Given the description of an element on the screen output the (x, y) to click on. 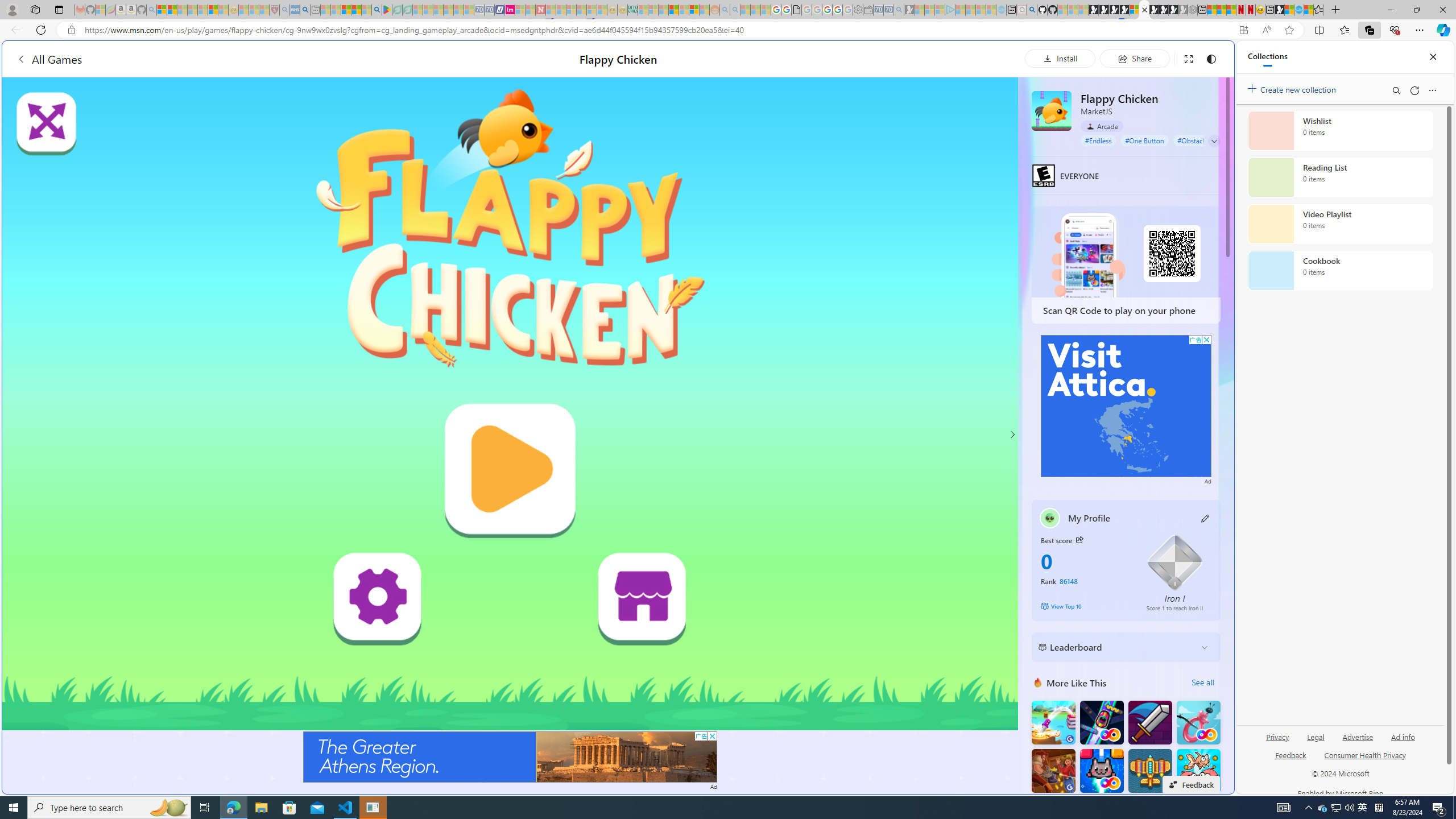
Class: button edit-icon (1205, 517)
Change to dark mode (1211, 58)
utah sues federal government - Search (922, 389)
Share (1134, 58)
Dungeon Master Knight (1149, 722)
AutomationID: canvas (509, 403)
